Given the description of an element on the screen output the (x, y) to click on. 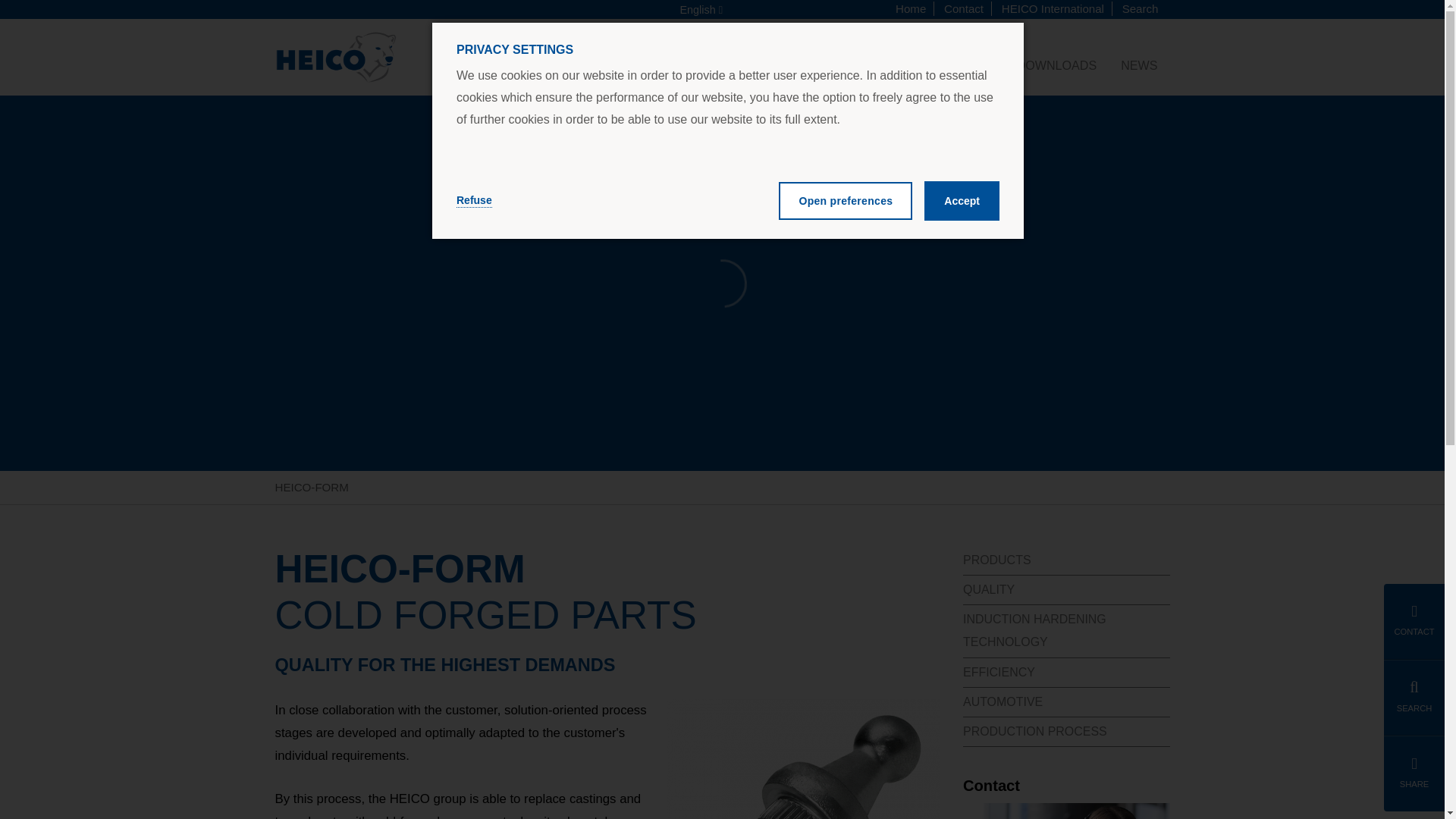
HEICO-LOCK (597, 64)
Home (335, 57)
Contact (911, 9)
Search (964, 9)
HEICO International (1137, 9)
Skip navigation (1053, 9)
HEICO-TEC (693, 64)
HEICO-LOCK (693, 64)
